Given the description of an element on the screen output the (x, y) to click on. 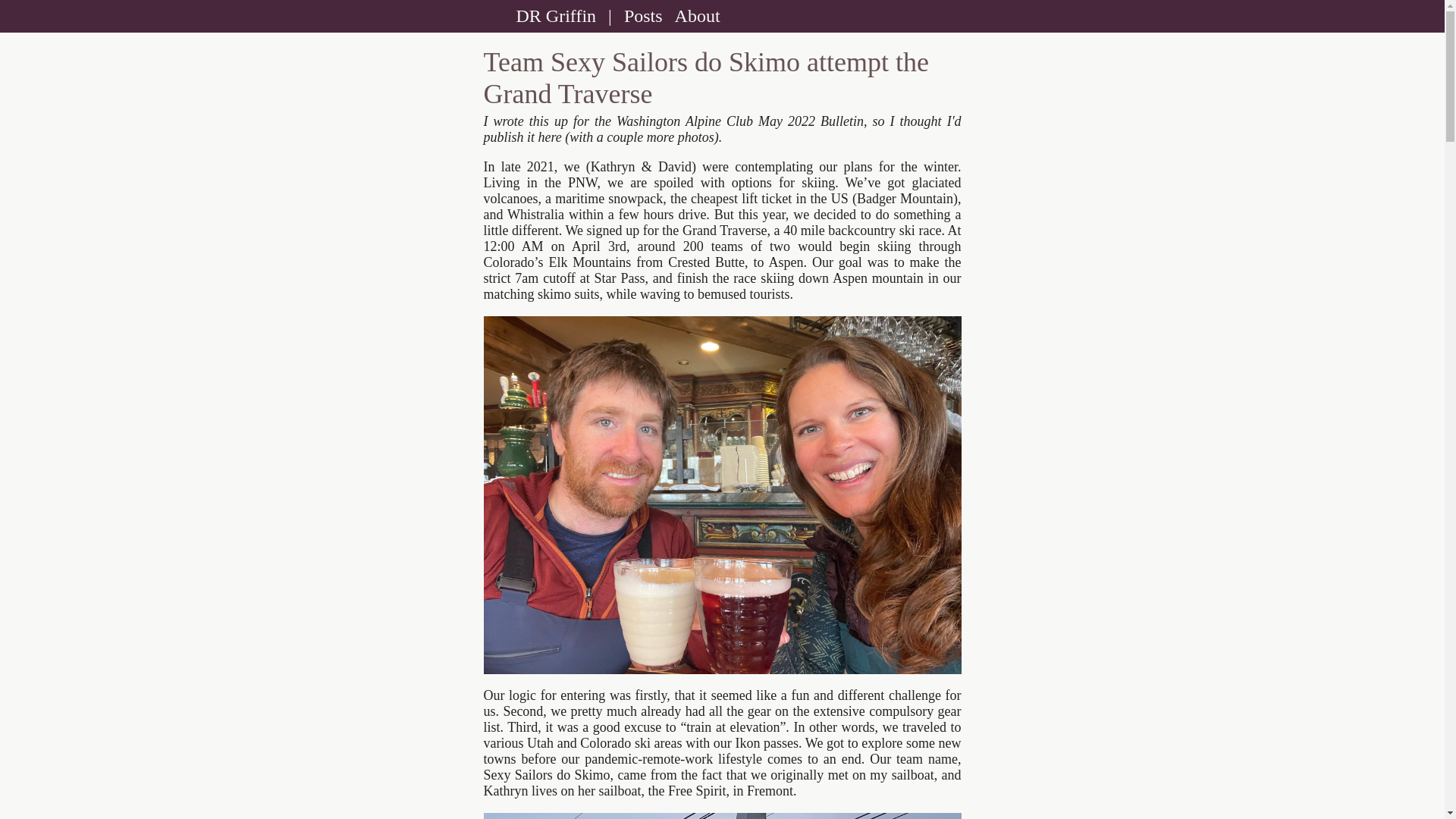
Posts Element type: text (643, 15)
DR Griffin Element type: text (555, 15)
About Element type: text (697, 15)
'Hydrating' at the Stein Eriksen Lodge in Deer Valley Element type: hover (722, 495)
